Given the description of an element on the screen output the (x, y) to click on. 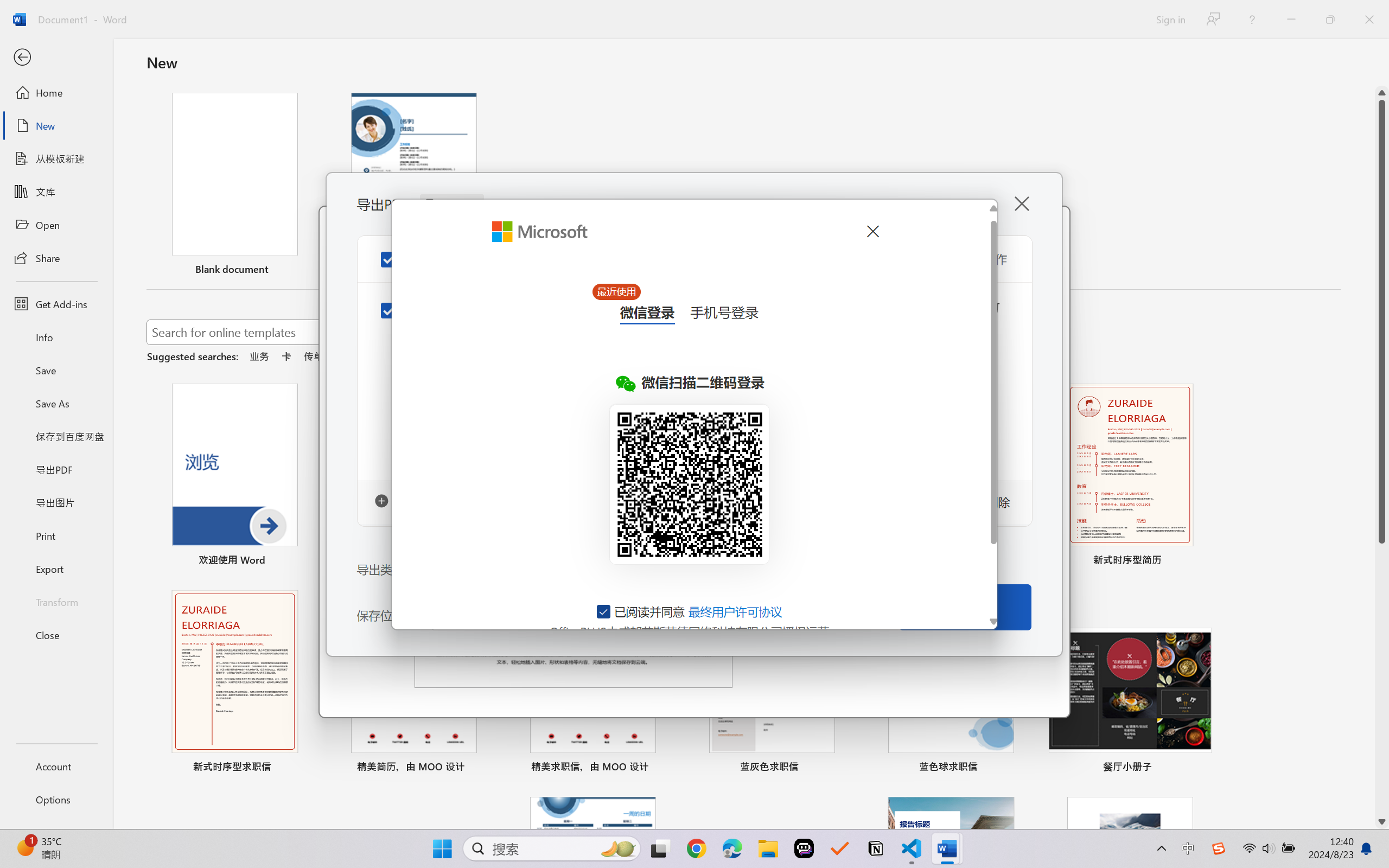
Line up (1382, 92)
Pin to list (1200, 767)
New (56, 125)
Next Template (1046, 479)
AutomationID: checkbox-14 (604, 611)
